Given the description of an element on the screen output the (x, y) to click on. 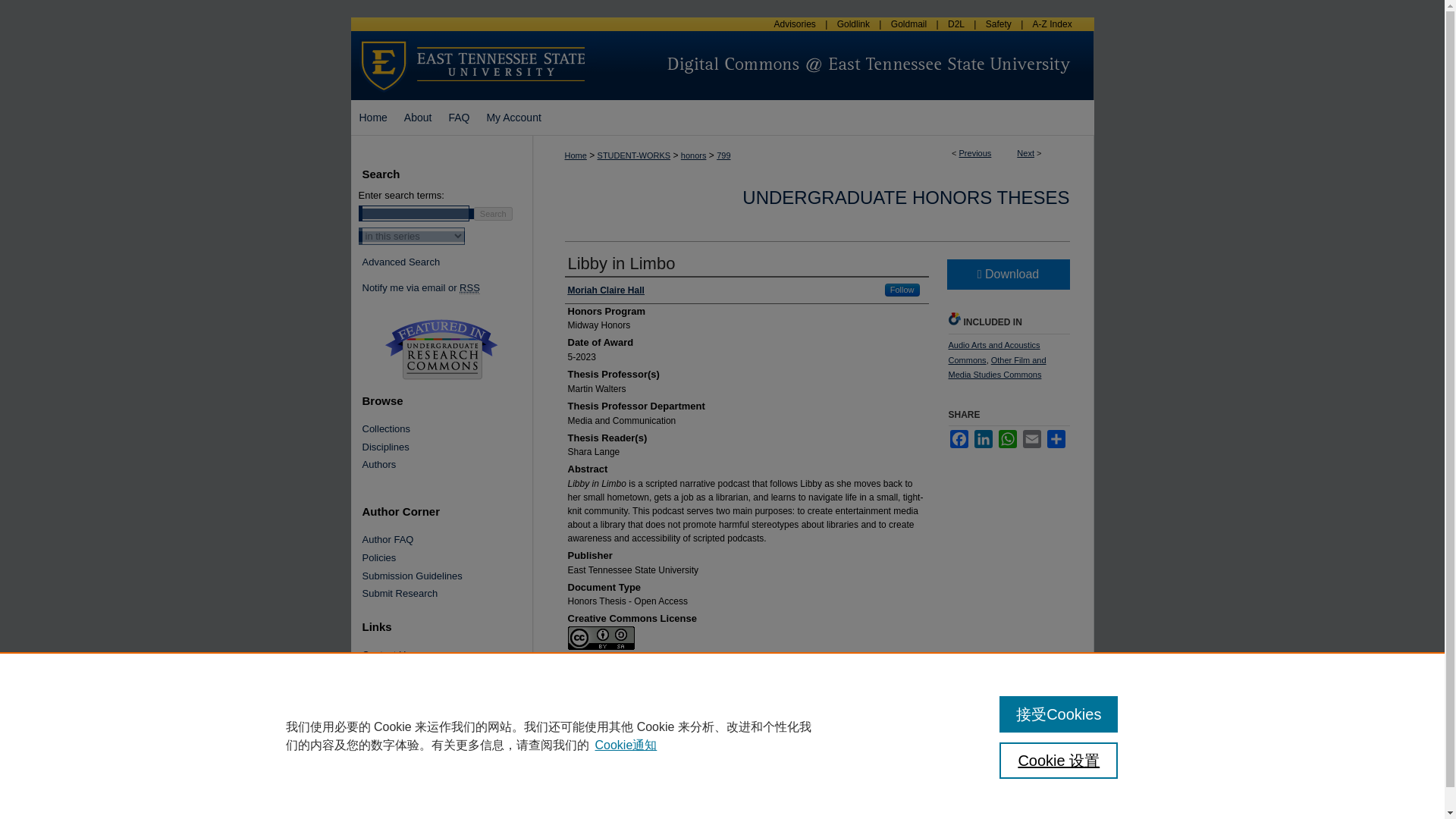
Follow Moriah Claire Hall (902, 289)
About (418, 117)
Goldmail (908, 23)
Follow (902, 289)
Safety (997, 23)
LinkedIn (982, 438)
Goldlink (852, 23)
Email (1031, 438)
East Tennessee State University (472, 37)
honors (693, 154)
Goldmail (908, 23)
Audio Arts and Acoustics Commons (993, 352)
D2L (955, 23)
Home (372, 117)
